Given the description of an element on the screen output the (x, y) to click on. 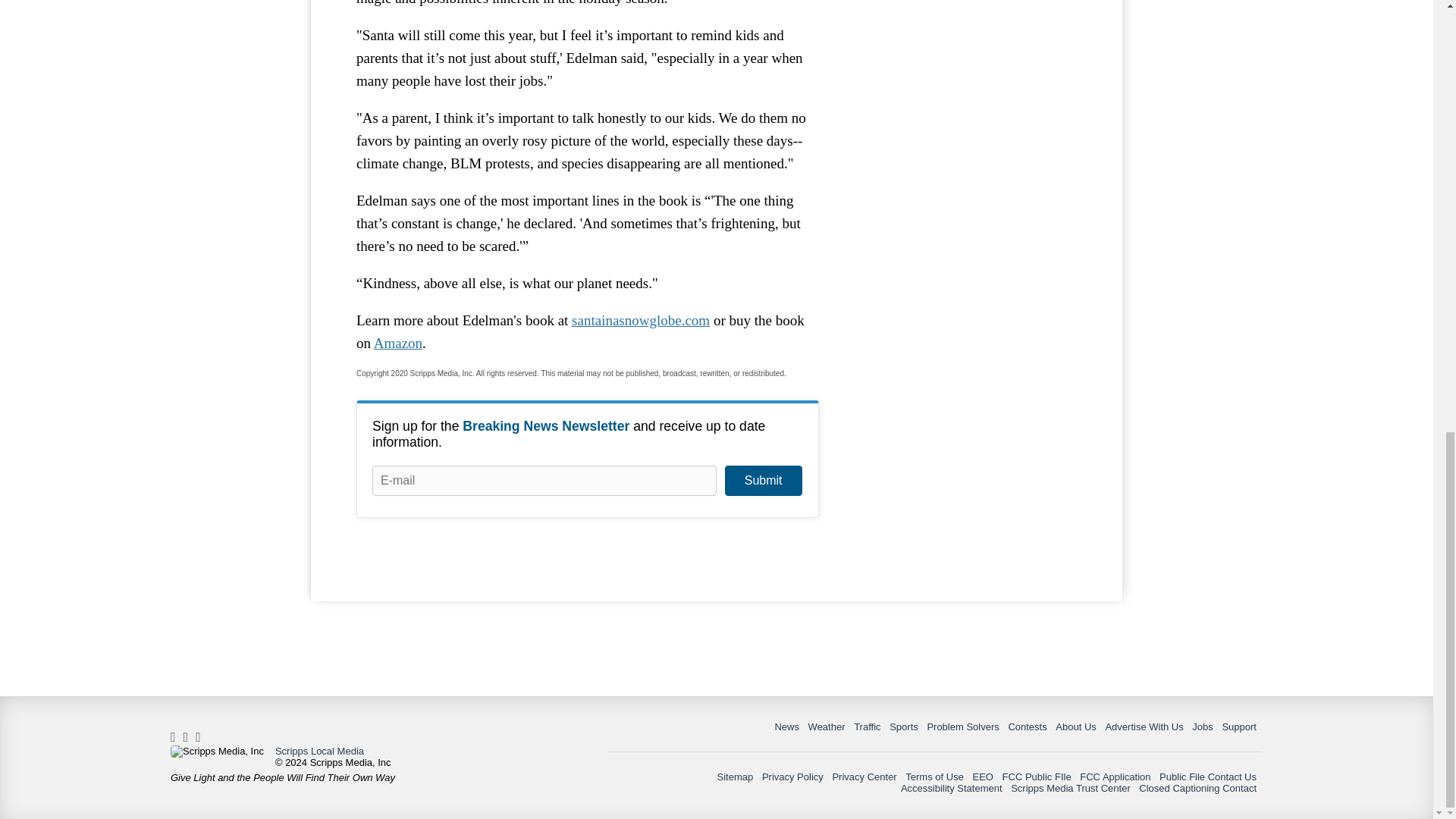
Submit (763, 481)
